Given the description of an element on the screen output the (x, y) to click on. 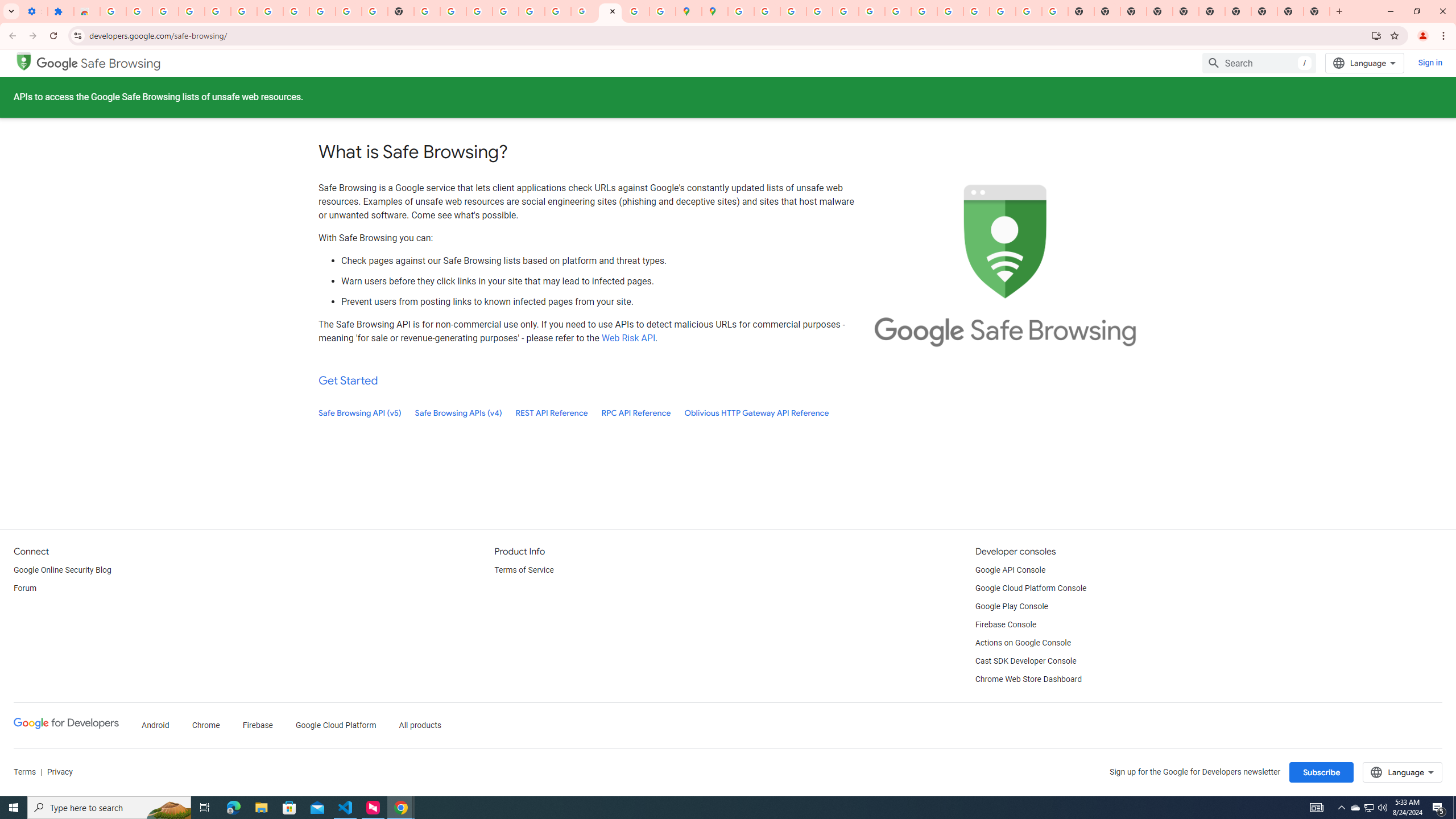
Google Online Security Blog (62, 570)
Reviews: Helix Fruit Jump Arcade Game (86, 11)
New Tab (1159, 11)
New Tab (1316, 11)
Cast SDK Developer Console (1025, 661)
Google Safe Browsing (98, 63)
Safe Browsing API (v5) (360, 412)
Google Developers (66, 725)
https://scholar.google.com/ (427, 11)
